Given the description of an element on the screen output the (x, y) to click on. 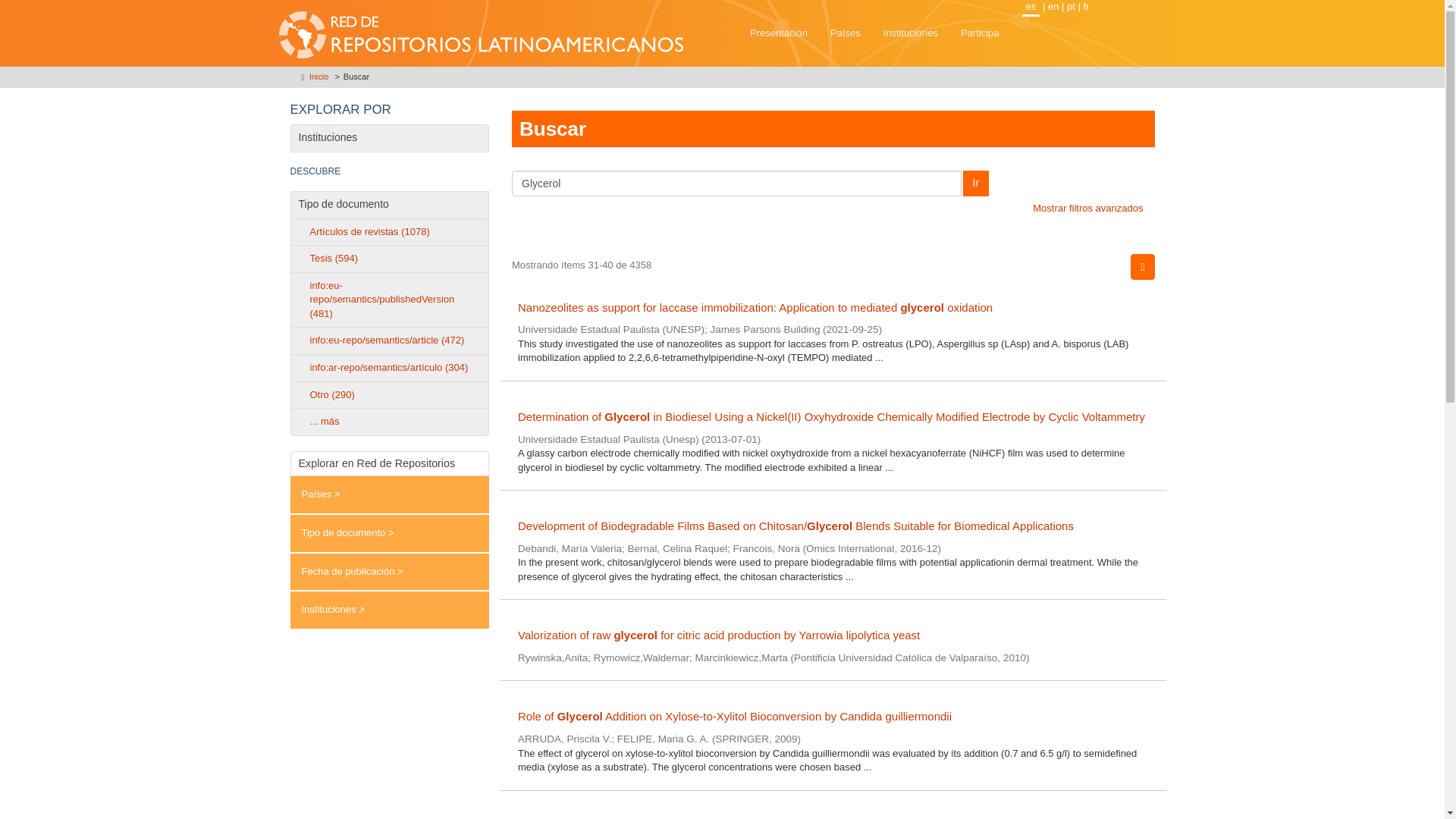
English (1053, 6)
Mostrar filtros avanzados (1087, 207)
es (1031, 8)
Inicio (318, 76)
Glycerol (736, 183)
Ir (976, 183)
Participa (979, 33)
Instituciones (910, 33)
en (1053, 6)
